Given the description of an element on the screen output the (x, y) to click on. 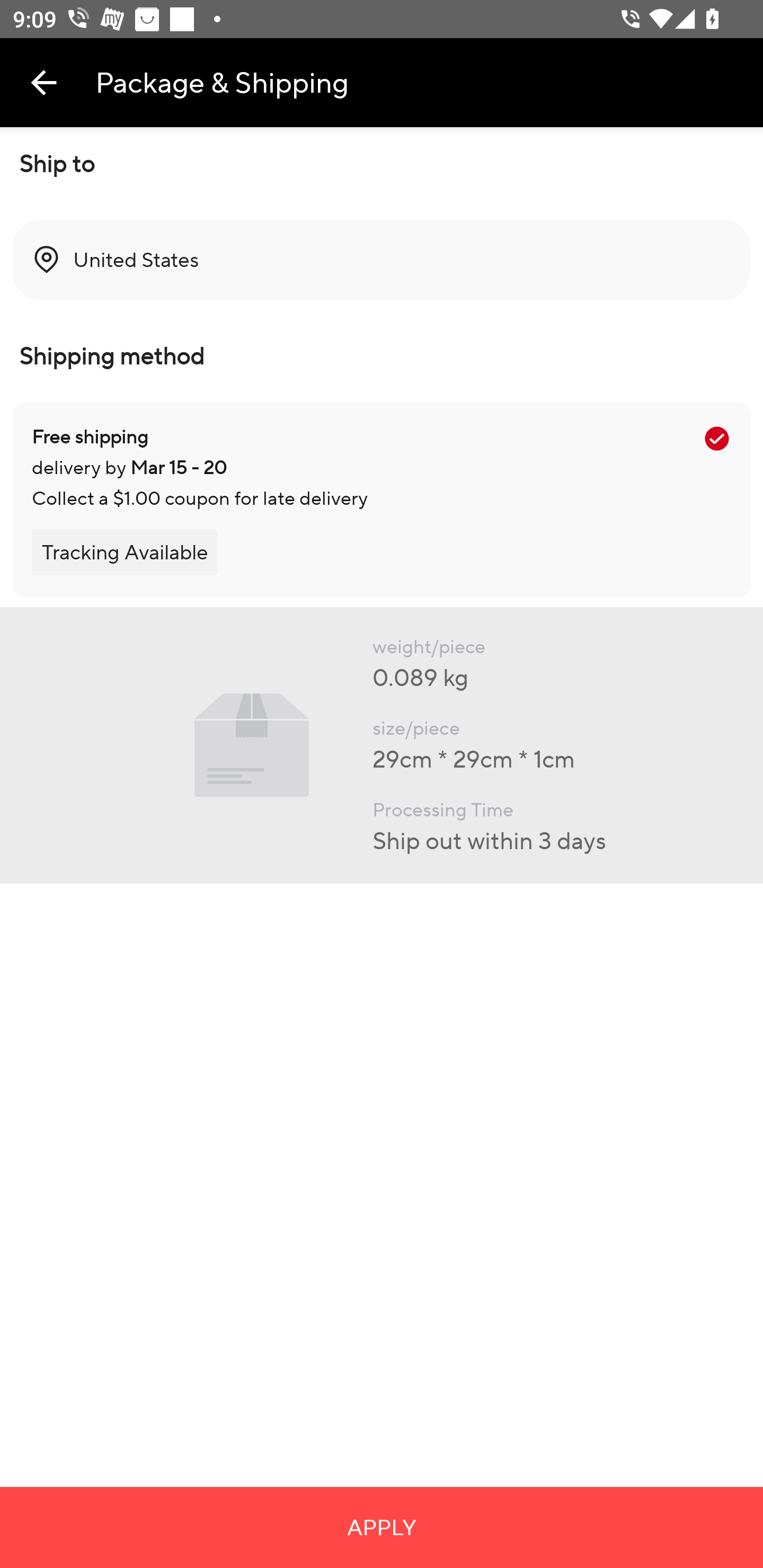
 United States (381, 260)
APPLY (381, 1527)
